Given the description of an element on the screen output the (x, y) to click on. 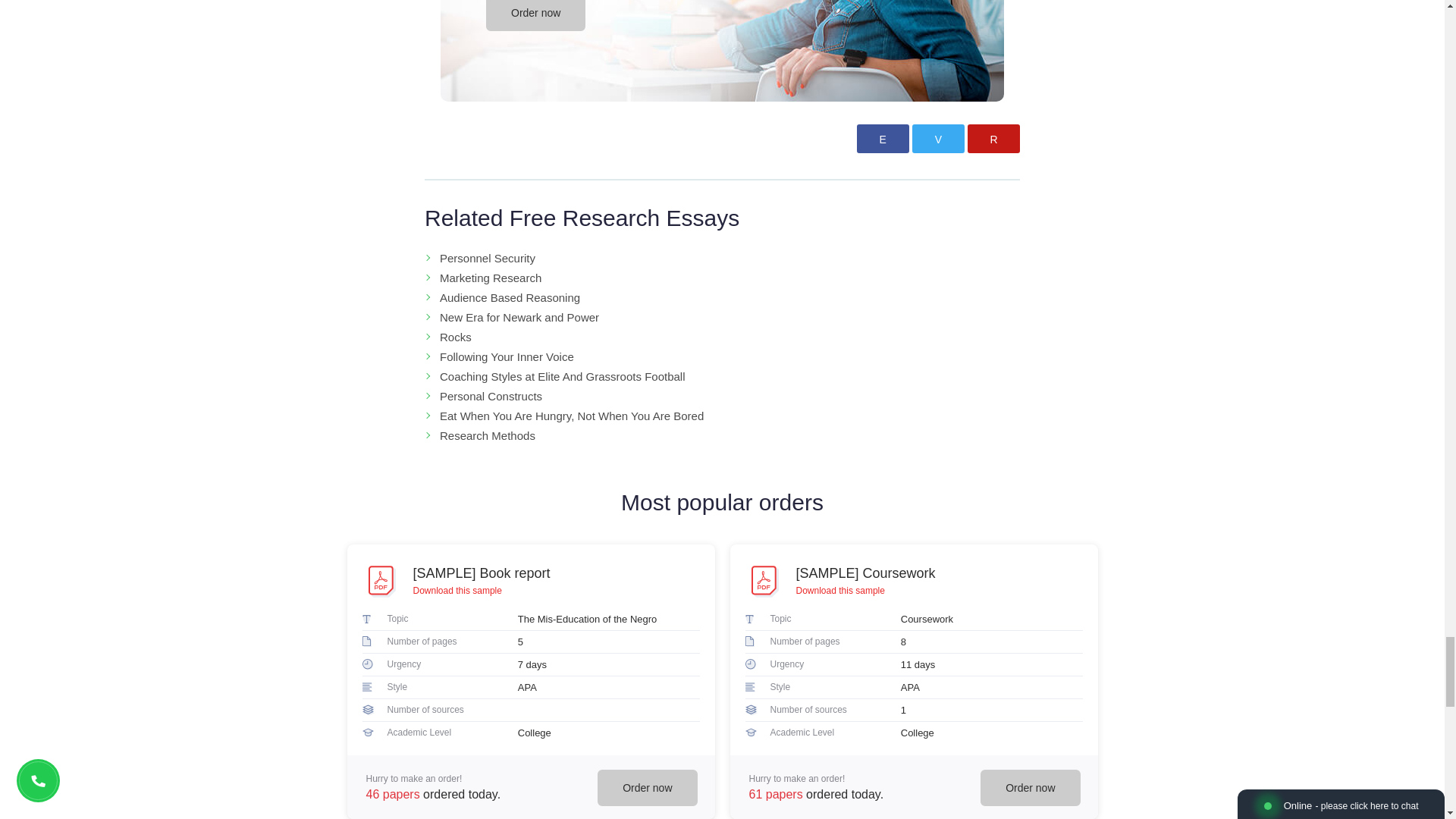
Share on Pinterest (994, 138)
Share on Facebook (882, 138)
Share on Twitter (937, 138)
